Given the description of an element on the screen output the (x, y) to click on. 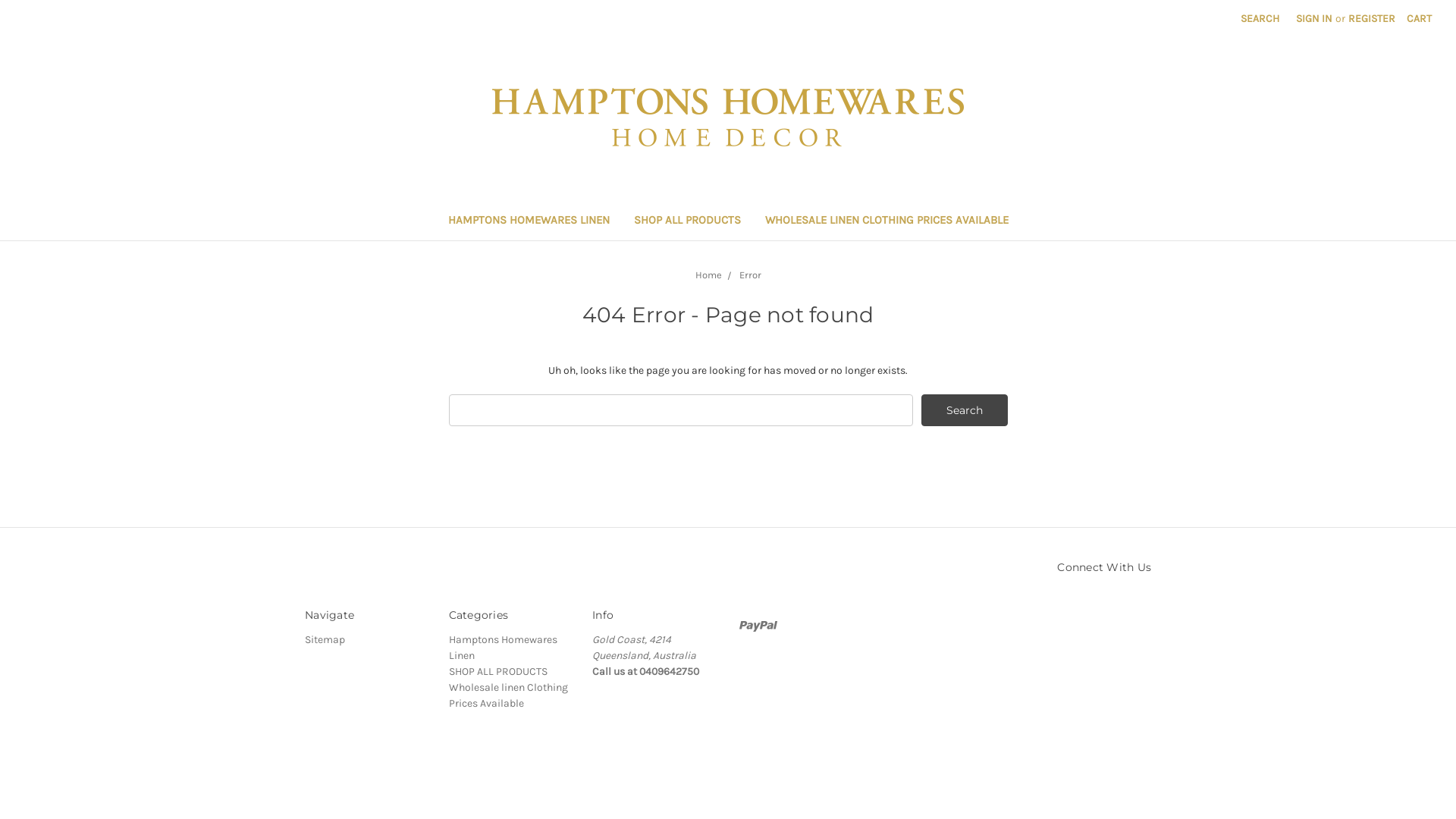
Hamptons Homewares Element type: hover (727, 117)
Search Element type: text (964, 410)
SIGN IN Element type: text (1313, 18)
SEARCH Element type: text (1259, 18)
SHOP ALL PRODUCTS Element type: text (687, 221)
REGISTER Element type: text (1371, 18)
Error Element type: text (749, 274)
Wholesale linen Clothing Prices Available Element type: text (507, 694)
CART Element type: text (1419, 18)
WHOLESALE LINEN CLOTHING PRICES AVAILABLE Element type: text (885, 221)
Home Element type: text (707, 274)
SHOP ALL PRODUCTS Element type: text (497, 671)
HAMPTONS HOMEWARES LINEN Element type: text (528, 221)
Hamptons Homewares Linen Element type: text (502, 647)
Sitemap Element type: text (324, 639)
